Given the description of an element on the screen output the (x, y) to click on. 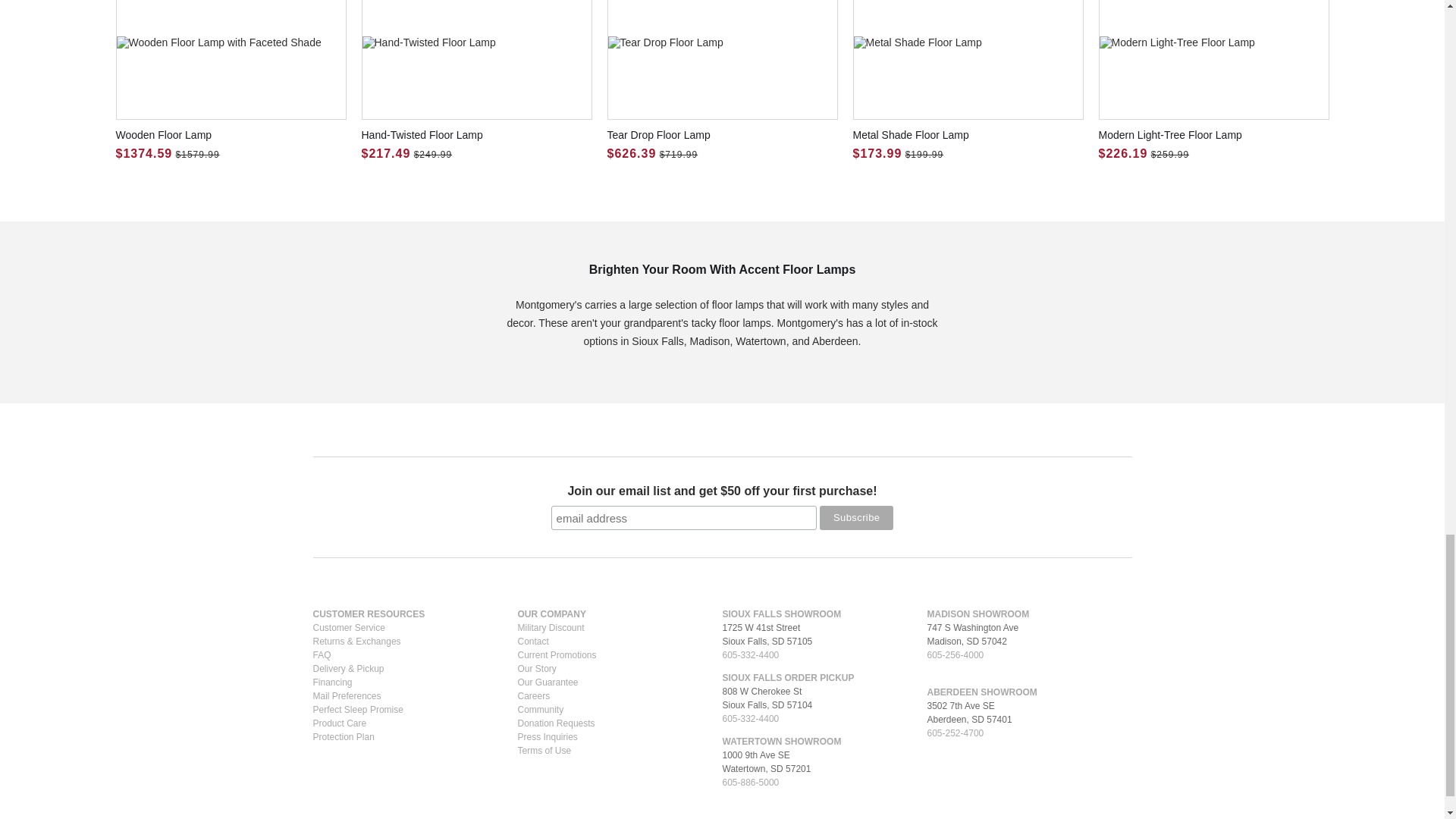
Subscribe (856, 517)
